Given the description of an element on the screen output the (x, y) to click on. 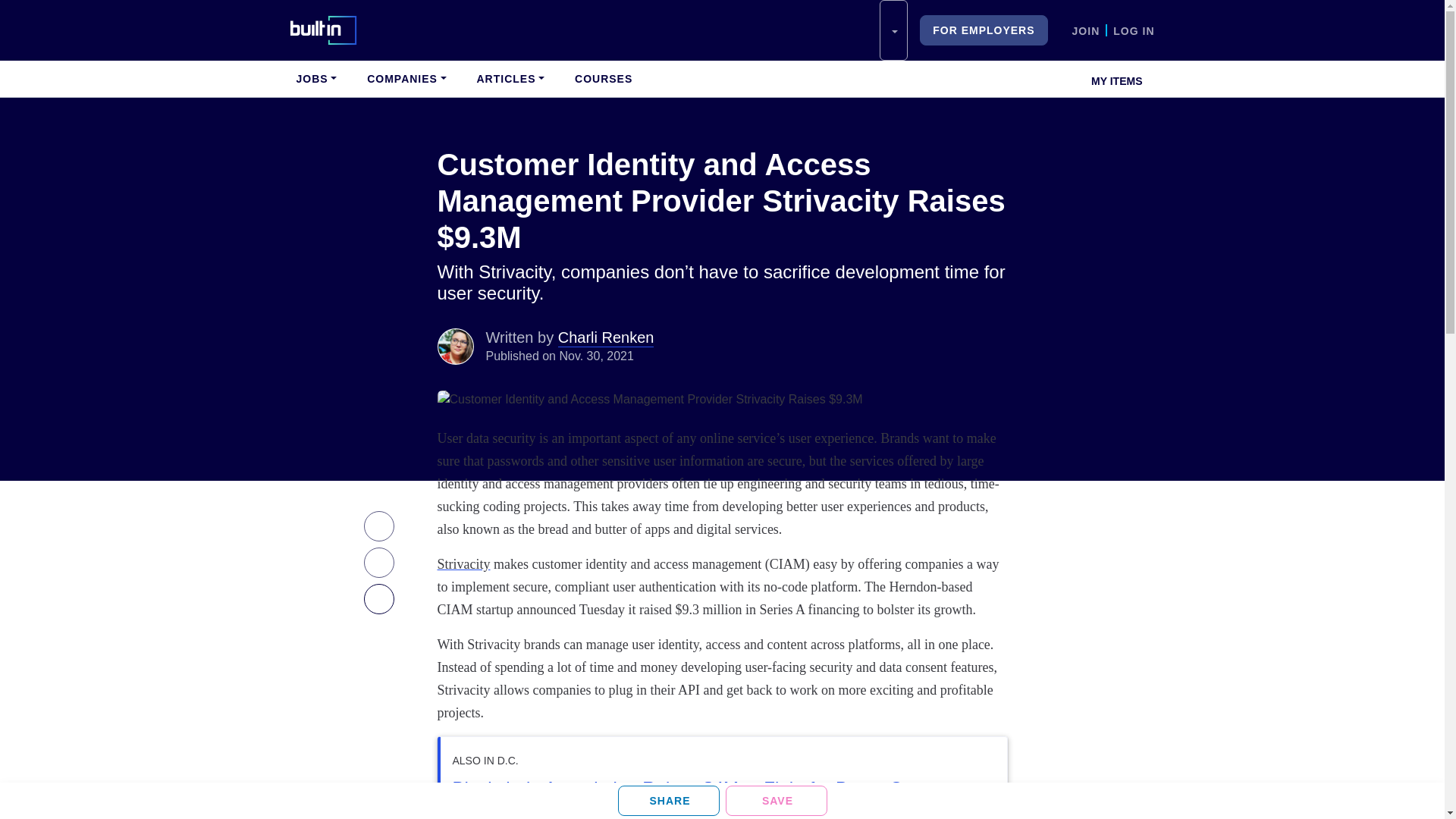
Share on LinkedIn (668, 800)
Charli Renken (455, 346)
FOR EMPLOYERS (983, 30)
JOIN (1085, 30)
JOBS (315, 78)
COMPANIES (406, 78)
ARTICLES (510, 78)
LOG IN (1133, 30)
